Given the description of an element on the screen output the (x, y) to click on. 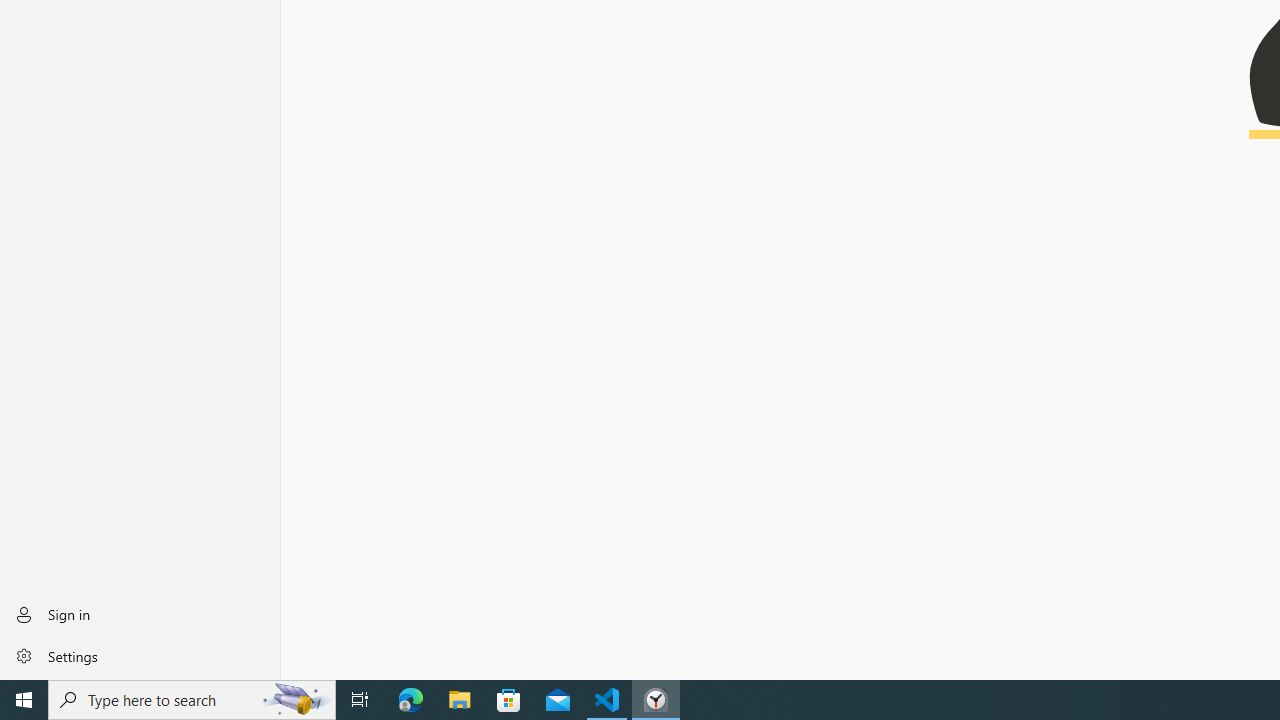
Clock - 1 running window (656, 699)
Microsoft Edge (411, 699)
Settings (139, 655)
Type here to search (191, 699)
File Explorer (460, 699)
Visual Studio Code - 1 running window (607, 699)
Search highlights icon opens search home window (295, 699)
Sign in (139, 614)
Task View (359, 699)
Microsoft Store (509, 699)
Start (24, 699)
